Given the description of an element on the screen output the (x, y) to click on. 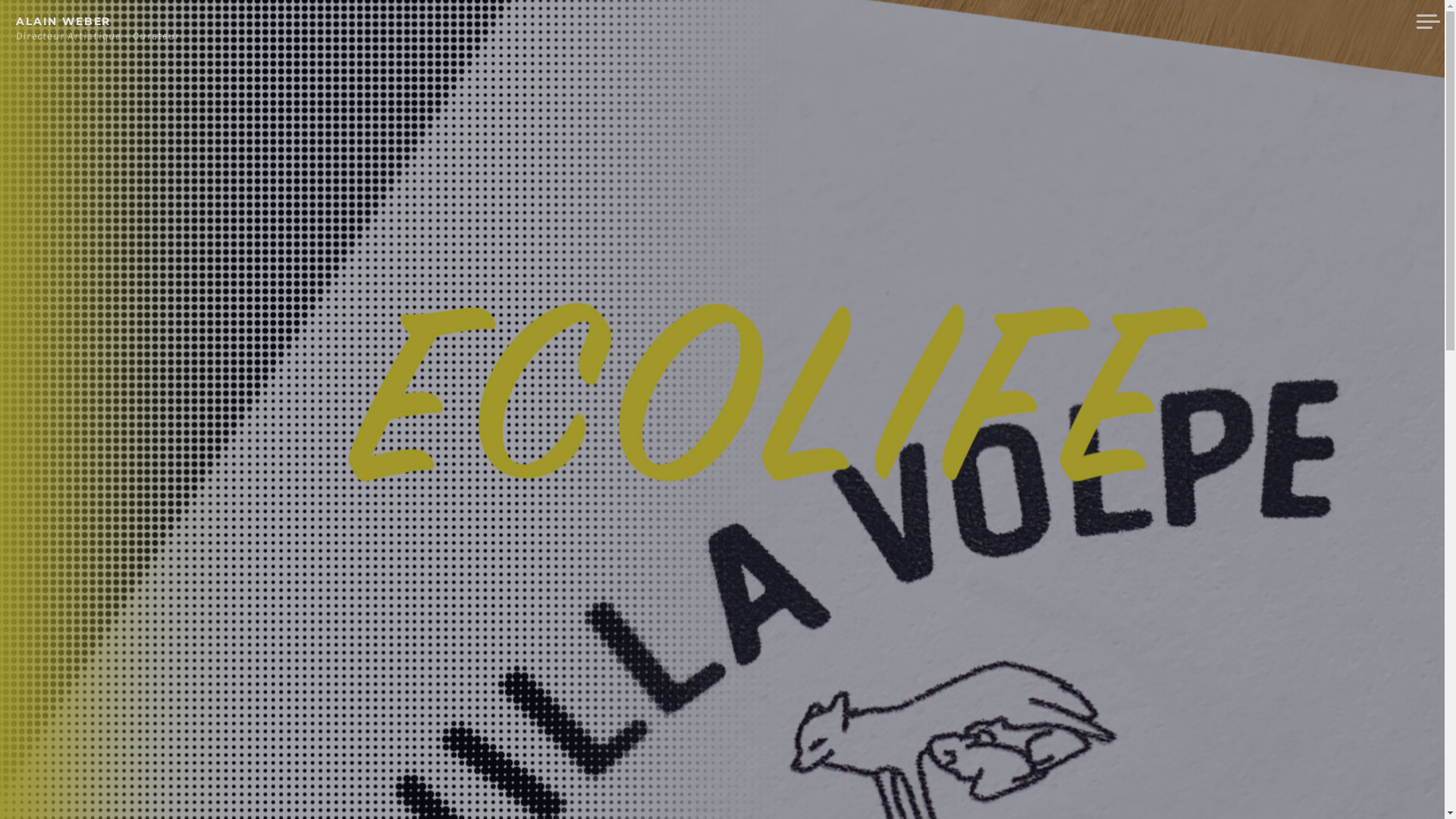
Rechercher Element type: text (52, 14)
ALAIN WEBER Element type: text (62, 21)
Skip to content Element type: text (0, 0)
